Given the description of an element on the screen output the (x, y) to click on. 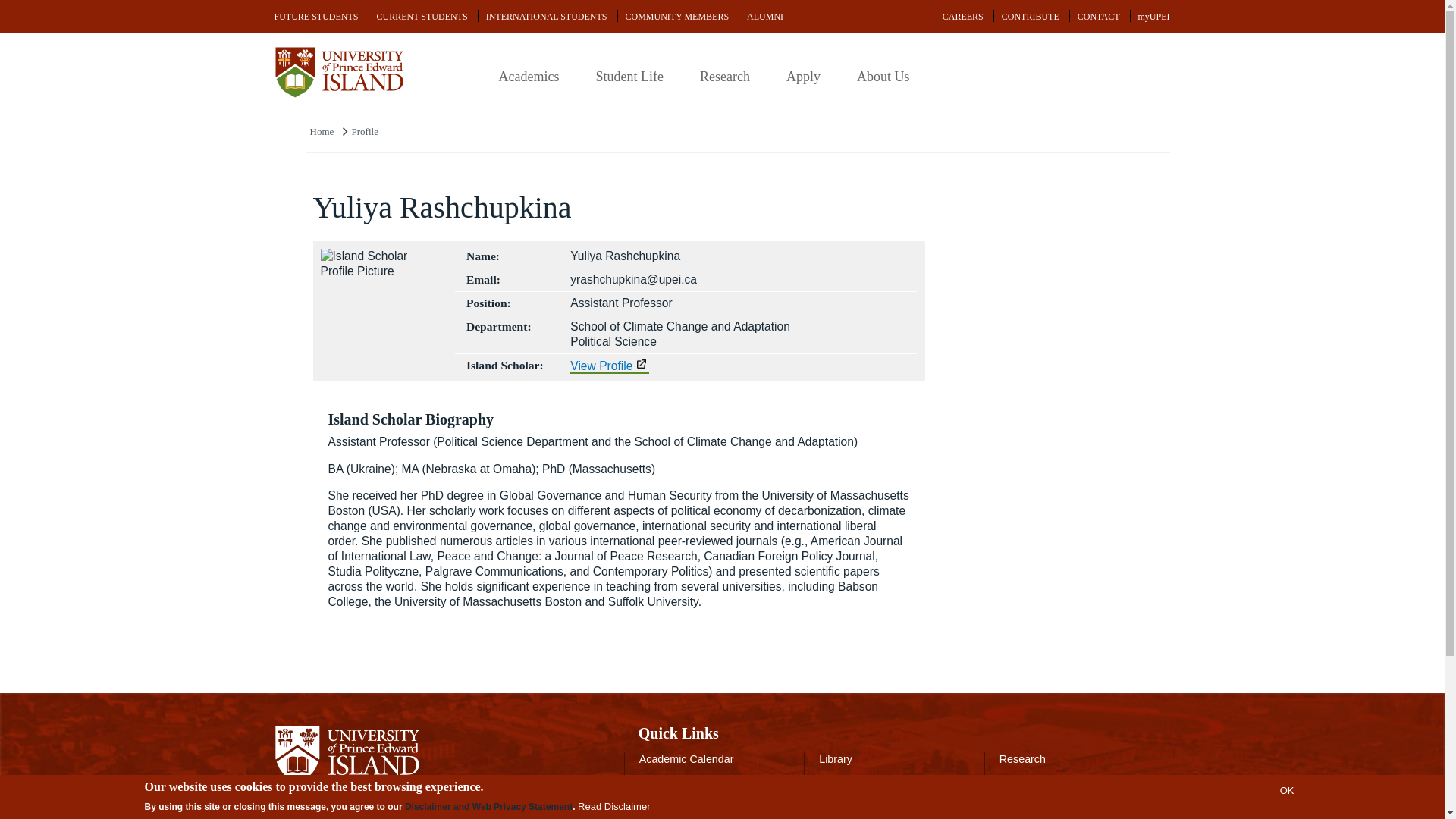
ALUMNI (764, 16)
INTERNATIONAL STUDENTS (546, 16)
CURRENT STUDENTS (422, 16)
myUPEI (1152, 16)
CONTACT (1098, 16)
CONTRIBUTE (1030, 16)
CAREERS (962, 16)
FUTURE STUDENTS (316, 16)
COMMUNITY MEMBERS (676, 16)
